Given the description of an element on the screen output the (x, y) to click on. 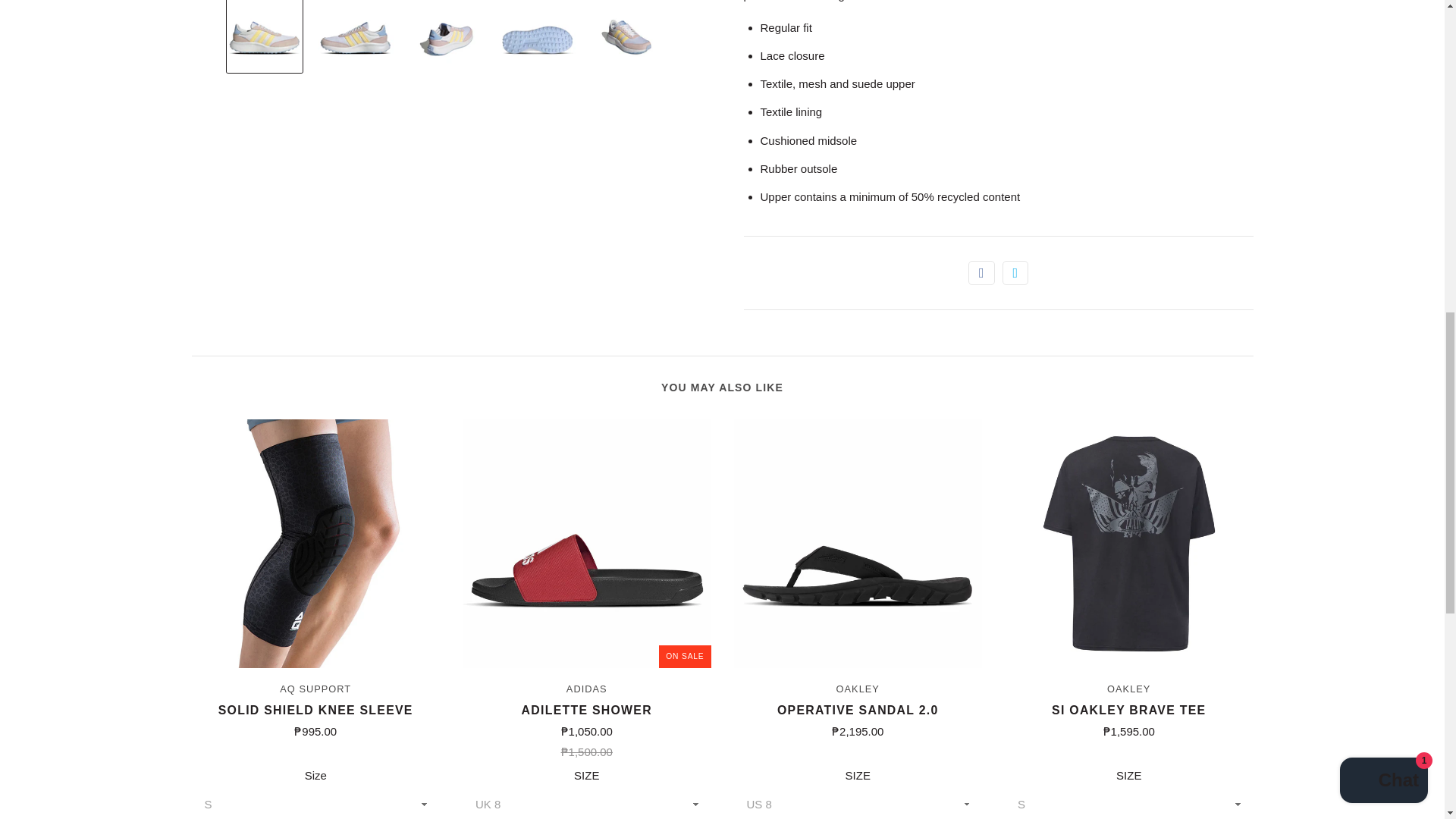
OAKLEY (857, 688)
ADIDAS (586, 688)
OAKLEY (1128, 688)
AQ SUPPORT (314, 688)
